Given the description of an element on the screen output the (x, y) to click on. 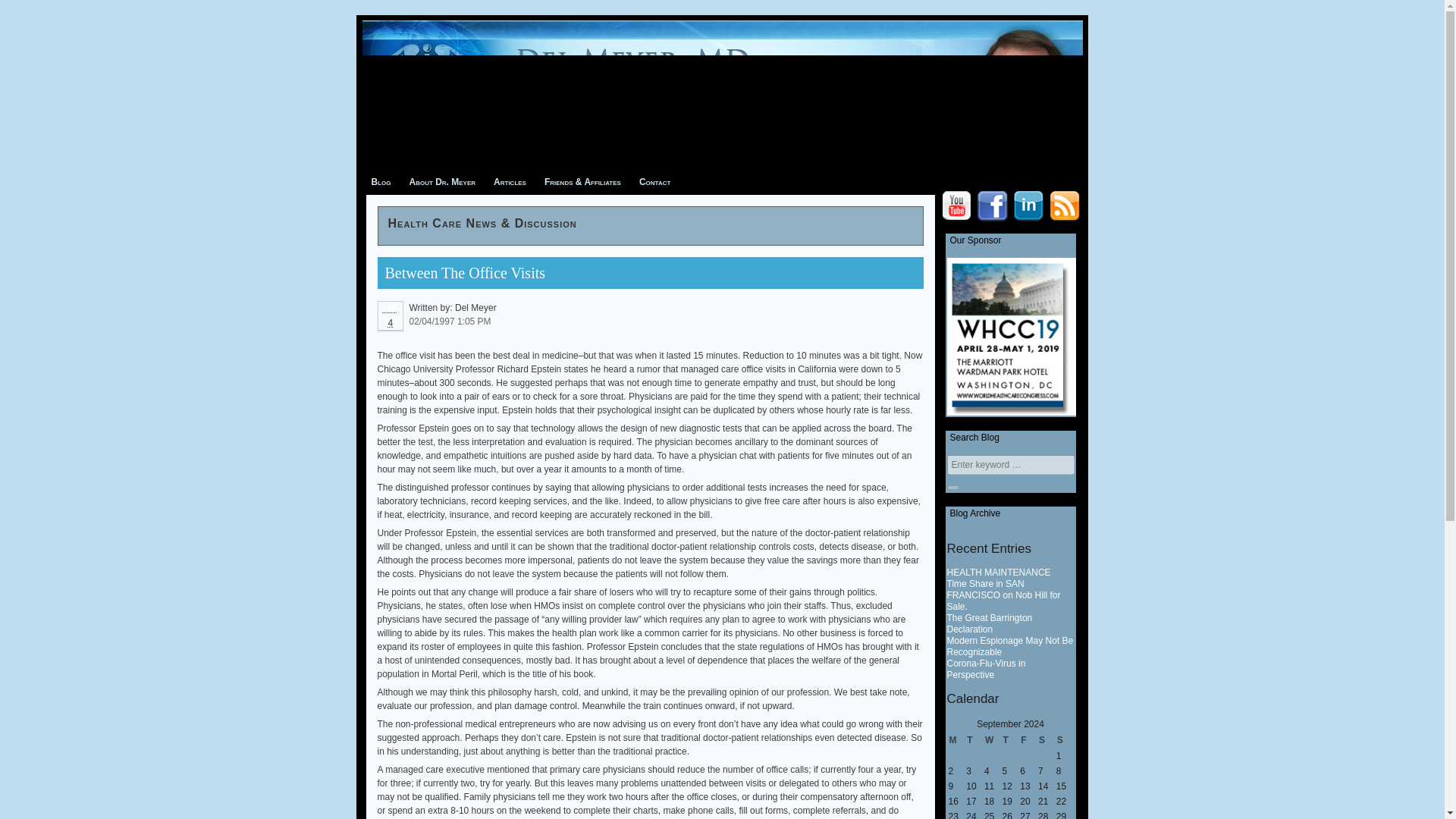
Saturday (1046, 739)
Thursday (1011, 739)
Sunday (1065, 739)
Contact (654, 181)
About Dr. Meyer (442, 181)
Articles (509, 181)
Wednesday (992, 739)
Friday (1028, 739)
Blog (381, 181)
Monday (955, 739)
